Given the description of an element on the screen output the (x, y) to click on. 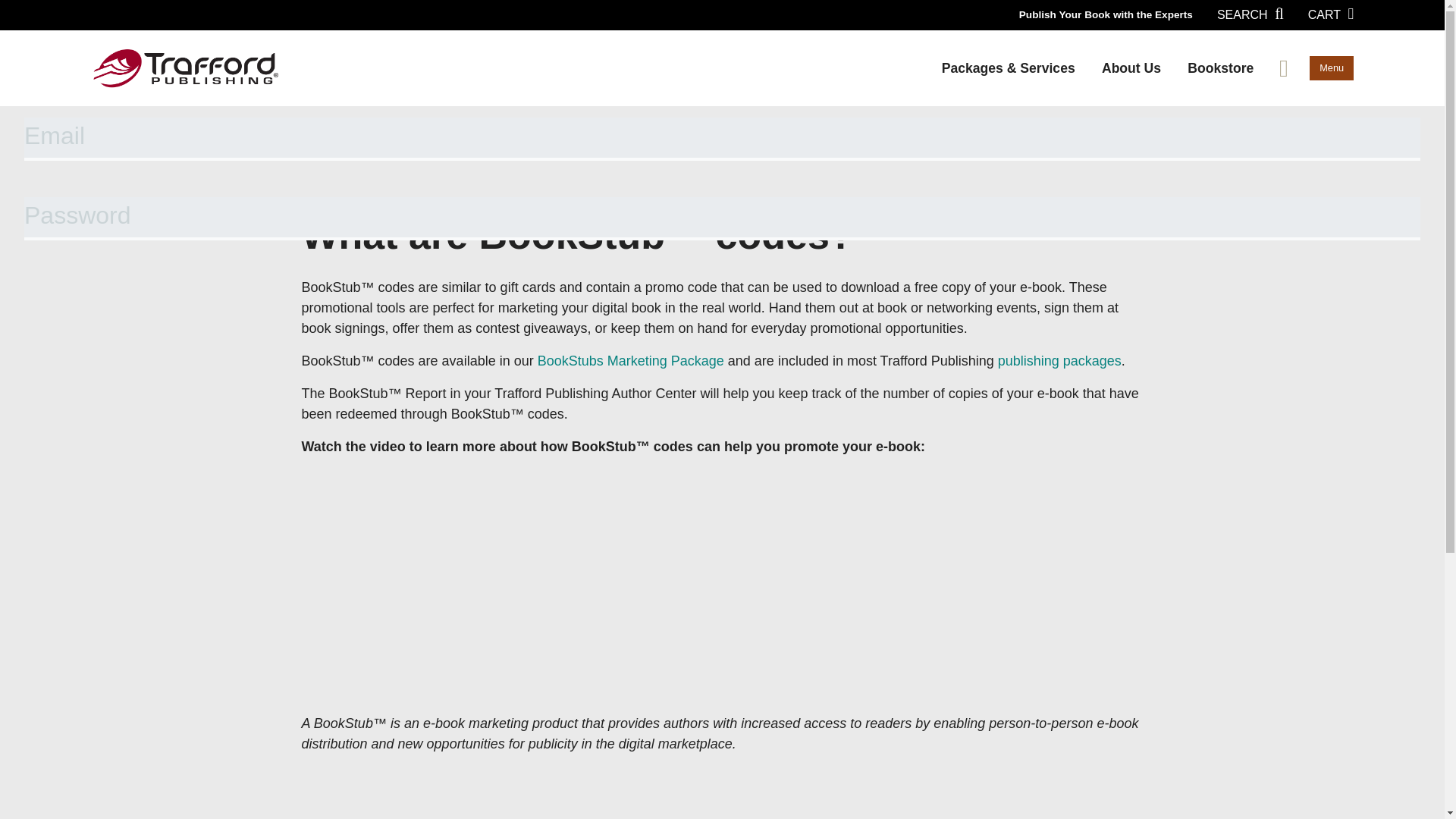
Home (327, 140)
Menu (1331, 68)
SEARCH (1250, 14)
CART (1330, 14)
BookStubs Marketing Package (630, 360)
publishing packages (1059, 360)
About Us (1130, 68)
Bookstore (1220, 68)
